Given the description of an element on the screen output the (x, y) to click on. 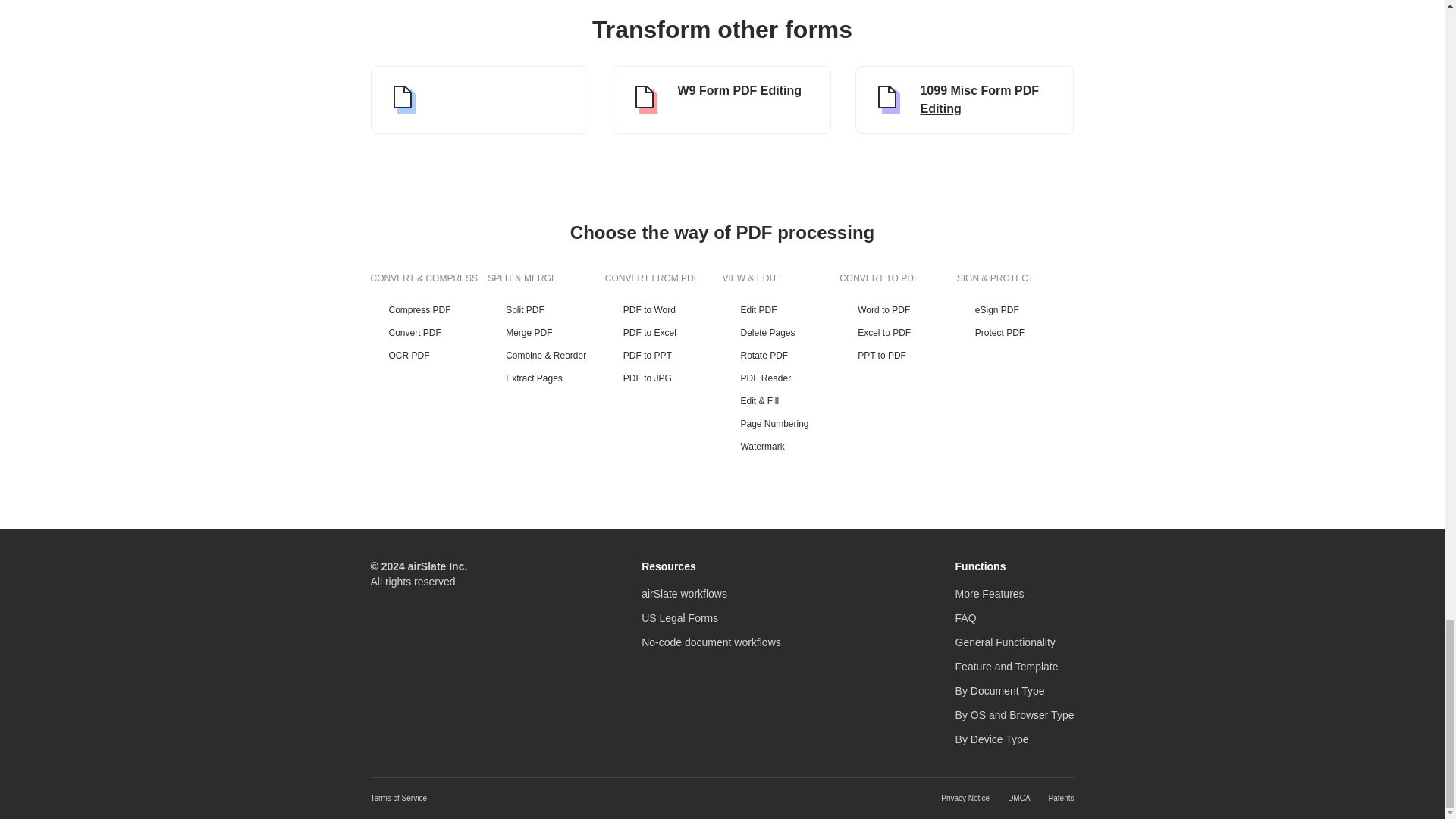
Compress PDF (428, 309)
PDF Reader (781, 378)
Page Numbering (781, 423)
PDF to Excel (663, 332)
Split PDF (546, 309)
Protect PDF (1015, 332)
Watermark (781, 446)
Convert PDF (428, 332)
Merge PDF (546, 332)
Rotate PDF (781, 355)
Extract Pages (546, 378)
W9 Form PDF Editing (721, 100)
PDF to PPT (663, 355)
Delete Pages (781, 332)
PDF to JPG (663, 378)
